Given the description of an element on the screen output the (x, y) to click on. 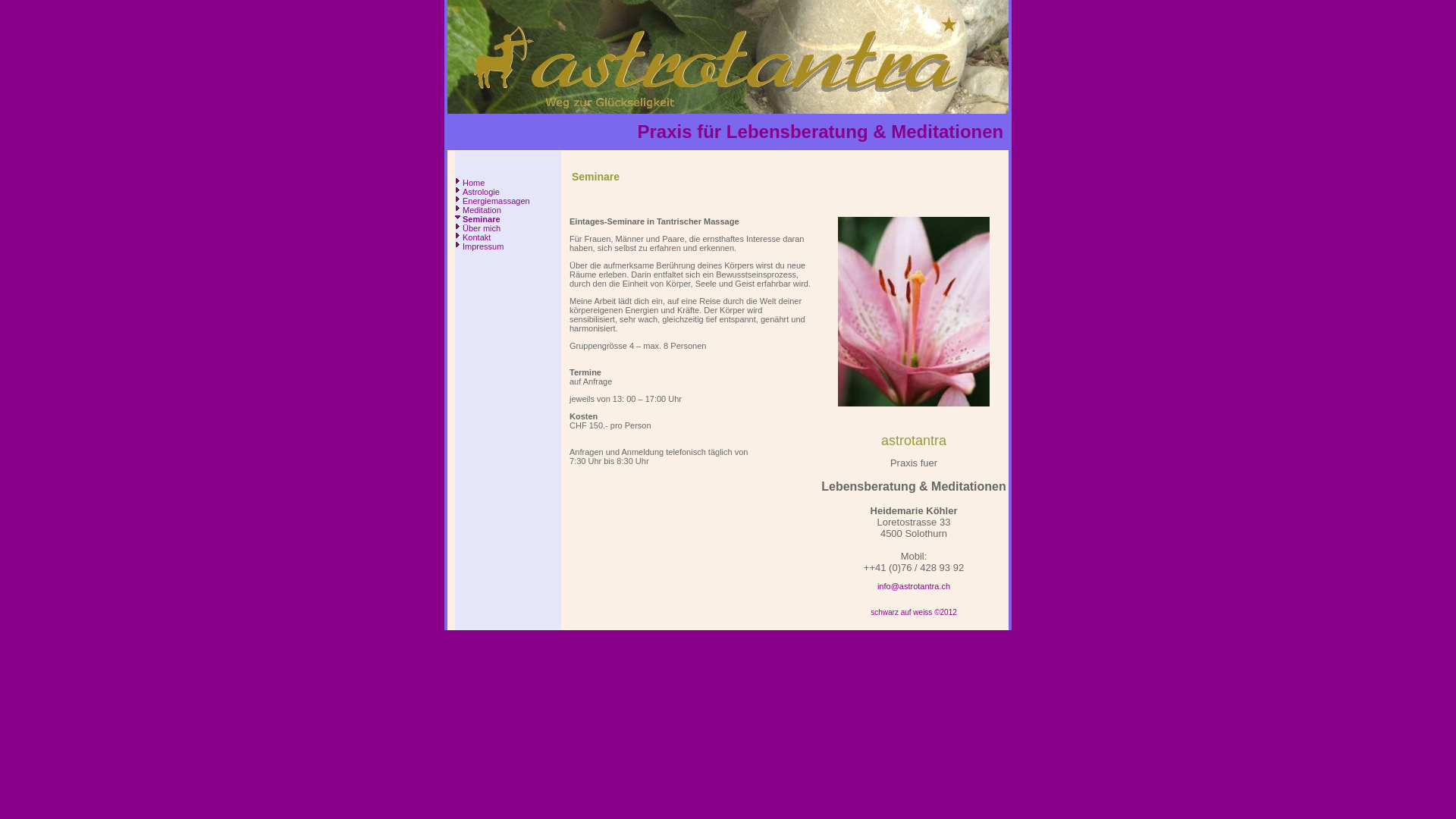
info@astrotantra.ch Element type: text (913, 585)
Home Element type: text (473, 182)
Astrologie Element type: text (480, 191)
Kontakt Element type: text (476, 236)
Meditation Element type: text (481, 209)
Energiemassagen Element type: text (496, 200)
Impressum Element type: text (482, 246)
